Given the description of an element on the screen output the (x, y) to click on. 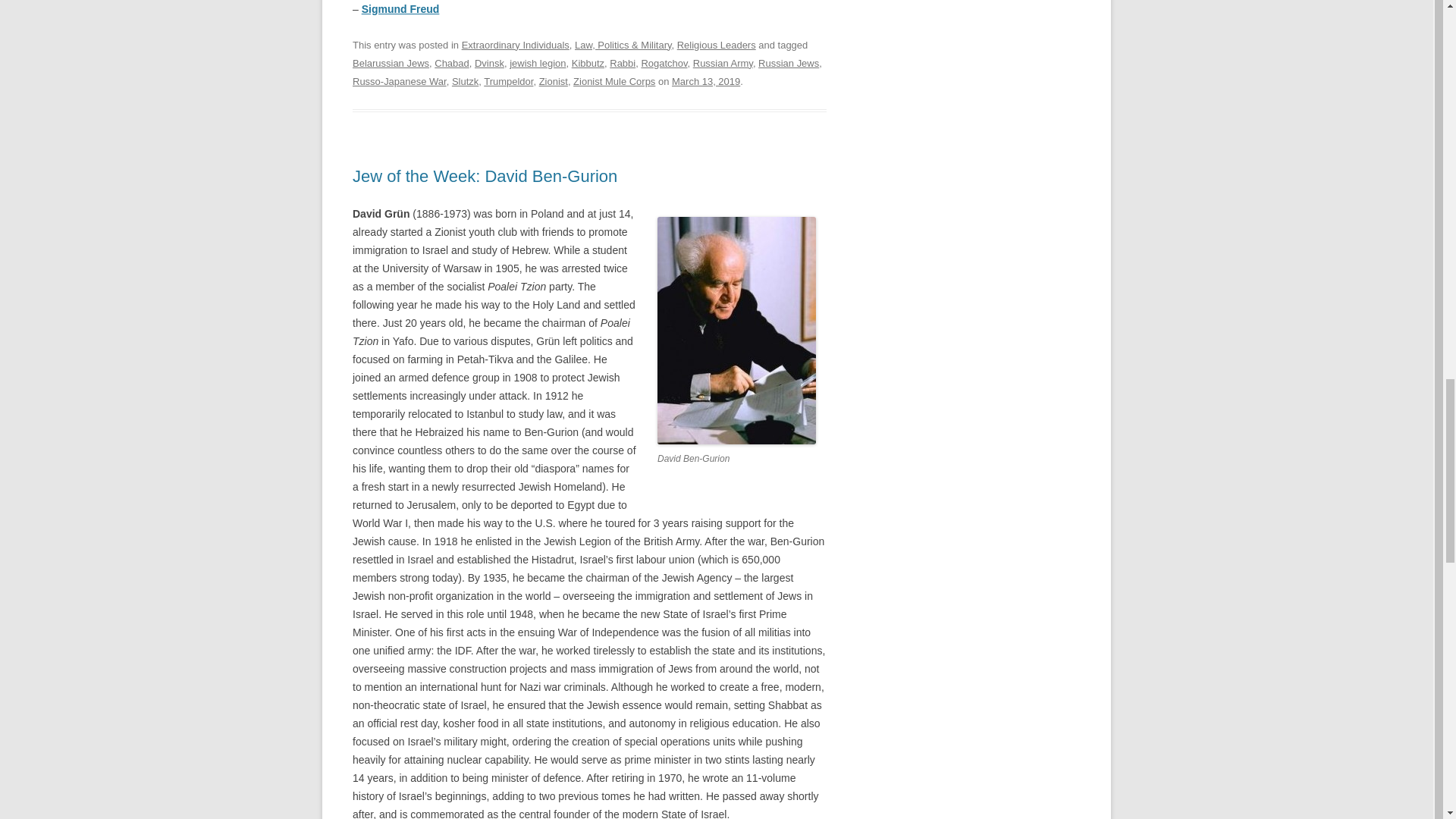
Extraordinary Individuals (515, 44)
Russian Jews (788, 62)
March 13, 2019 (705, 81)
Dvinsk (488, 62)
Kibbutz (588, 62)
Belarussian Jews (390, 62)
Chabad (450, 62)
Rogatchov (663, 62)
Slutzk (465, 81)
Religious Leaders (716, 44)
